Given the description of an element on the screen output the (x, y) to click on. 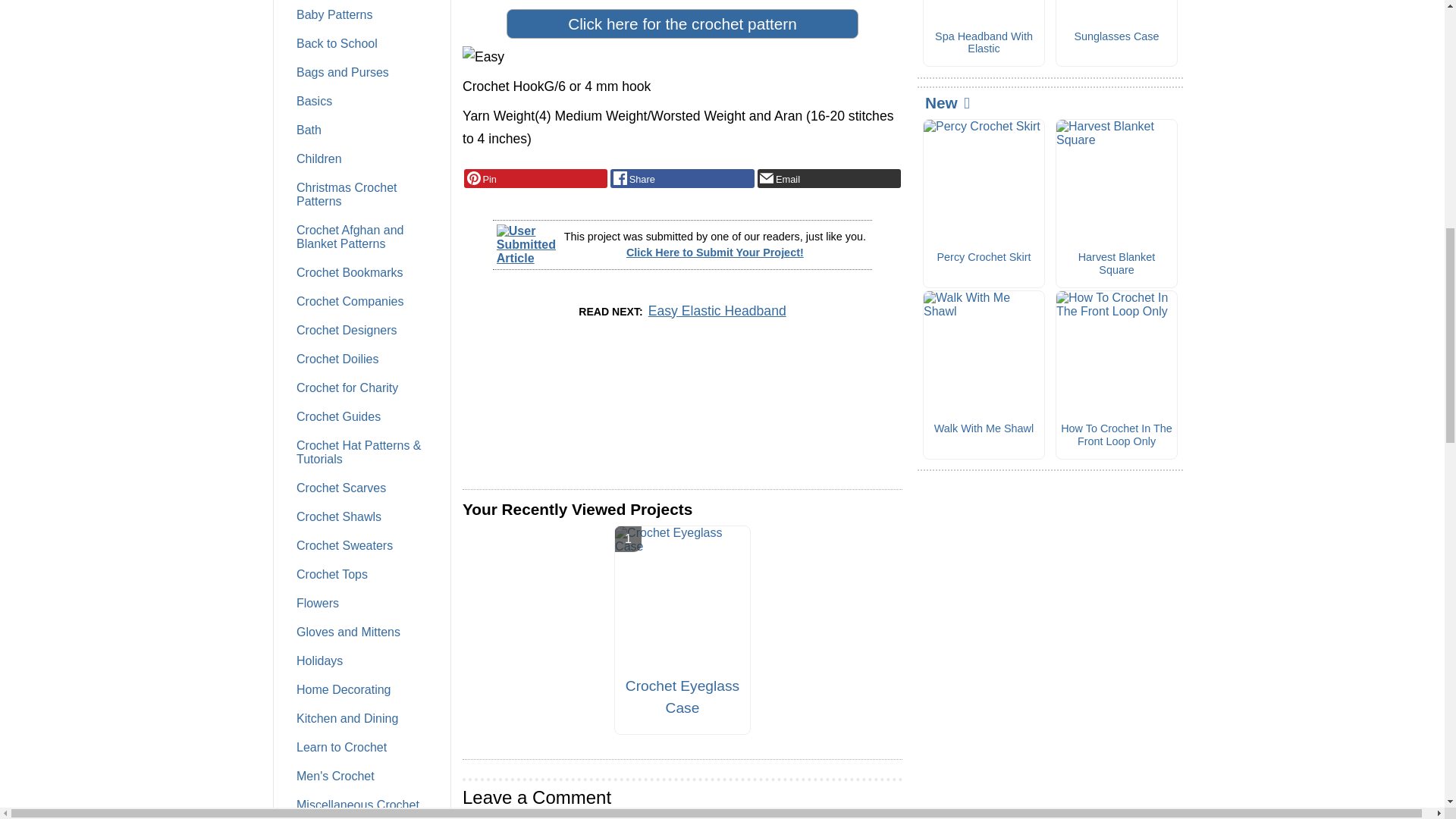
Email (829, 178)
Insticator Content Engagement Unit (576, 410)
Facebook (682, 178)
